Given the description of an element on the screen output the (x, y) to click on. 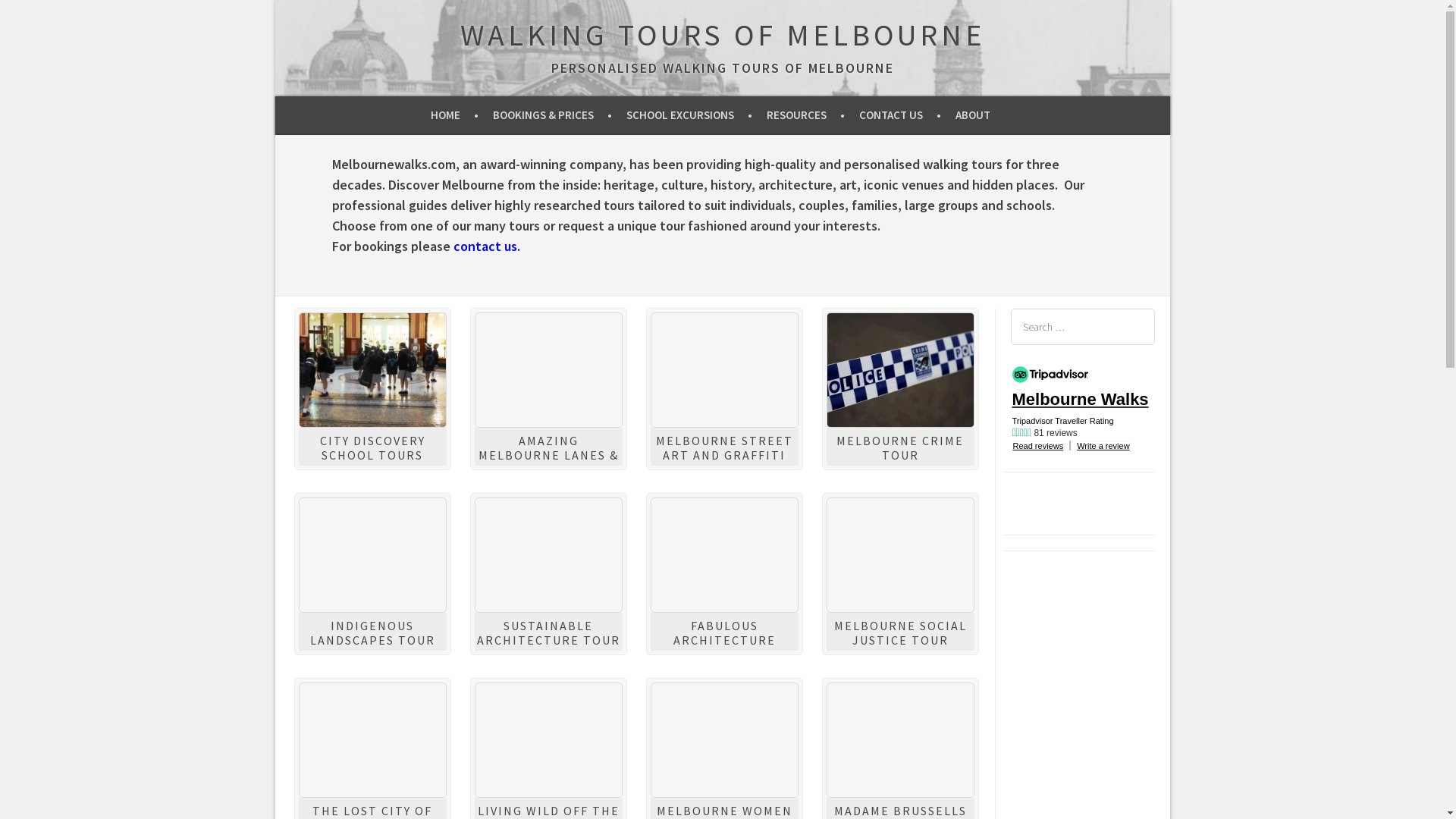
Permalink to Indigenous Landscapes Tour Element type: hover (372, 554)
Search Element type: text (27, 13)
CONTACT US Element type: text (900, 115)
SUSTAINABLE ARCHITECTURE TOUR Element type: text (547, 632)
Permalink to THE LOST CITY OF MELBOURNE TOUR Element type: hover (372, 739)
WALKING TOURS OF MELBOURNE Element type: text (721, 34)
CITY DISCOVERY SCHOOL TOURS Element type: text (372, 447)
Permalink to City Discovery School Tours Element type: hover (372, 369)
RESOURCES Element type: text (805, 115)
Permalink to Fabulous Architecture Melbourne Tour Element type: hover (724, 554)
MELBOURNE STREET ART AND GRAFFITI TOUR Element type: text (723, 454)
FABULOUS ARCHITECTURE MELBOURNE TOUR Element type: text (723, 640)
Permalink to Sustainable Architecture Tour Element type: hover (548, 554)
Melbourne Walks Element type: text (1093, 399)
Permalink to Melbourne Crime Tour Element type: hover (900, 369)
MELBOURNE SOCIAL JUSTICE TOUR Element type: text (900, 632)
HOME Element type: text (454, 115)
contact us Element type: text (485, 245)
Permalink to Madame Brussells Tour Element type: hover (900, 739)
SCHOOL EXCURSIONS Element type: text (689, 115)
INDIGENOUS LANDSCAPES TOUR Element type: text (371, 632)
MELBOURNE CRIME TOUR Element type: text (899, 447)
Write a review Element type: text (1102, 445)
Permalink to MELBOURNE WOMEN TOURS Element type: hover (724, 739)
AMAZING MELBOURNE LANES & ARCADES TOUR Element type: text (547, 454)
Permalink to Amazing Melbourne Lanes  & Arcades Tour Element type: hover (548, 369)
Read reviews Element type: text (1038, 445)
Permalink to Melbourne Social Justice Tour Element type: hover (900, 554)
ABOUT Element type: text (978, 115)
Permalink to Melbourne Street Art and Graffiti Tour Element type: hover (724, 369)
BOOKINGS & PRICES Element type: text (551, 115)
